Given the description of an element on the screen output the (x, y) to click on. 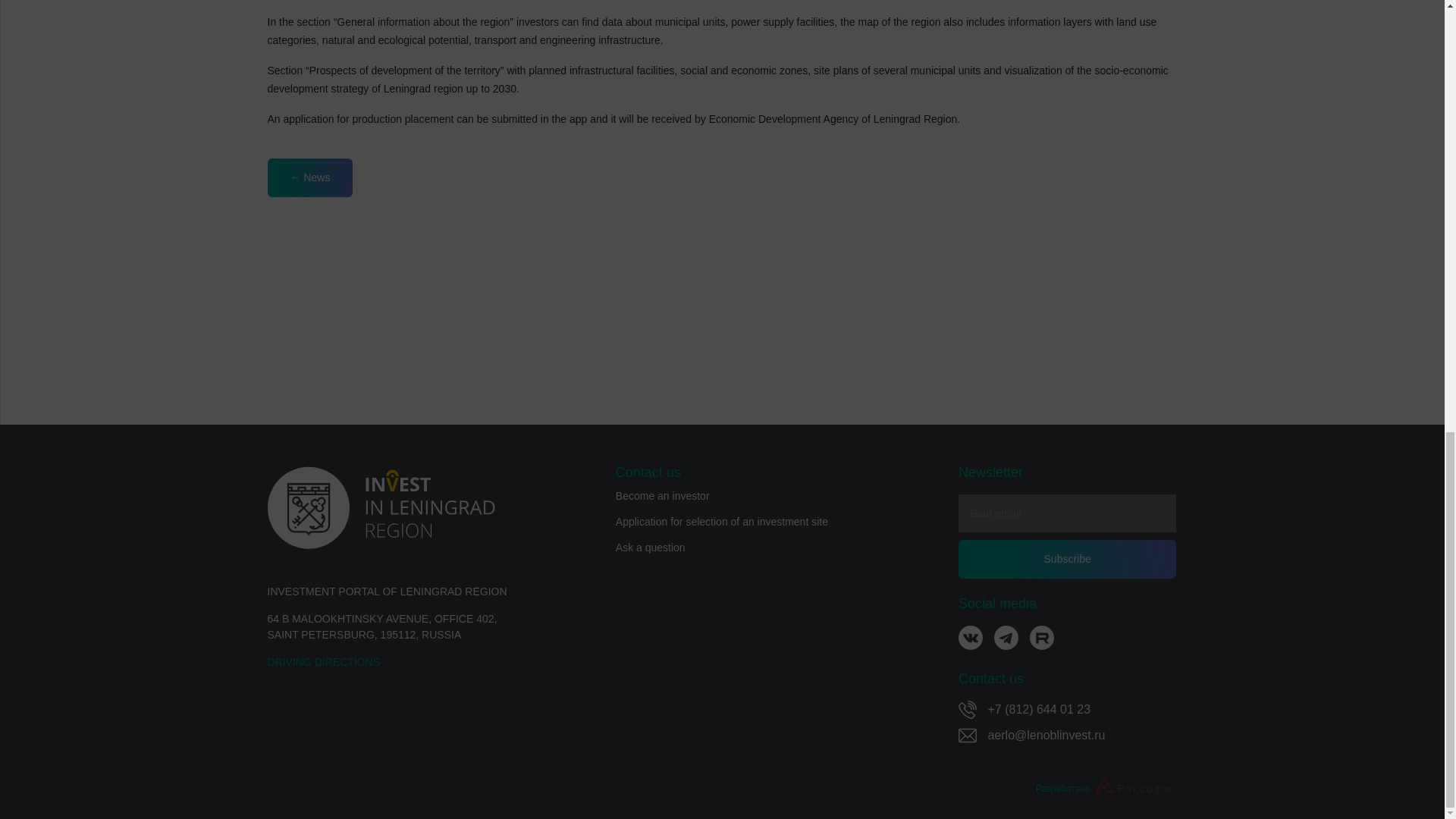
Rutube (1041, 637)
Telegram (1005, 644)
